Given the description of an element on the screen output the (x, y) to click on. 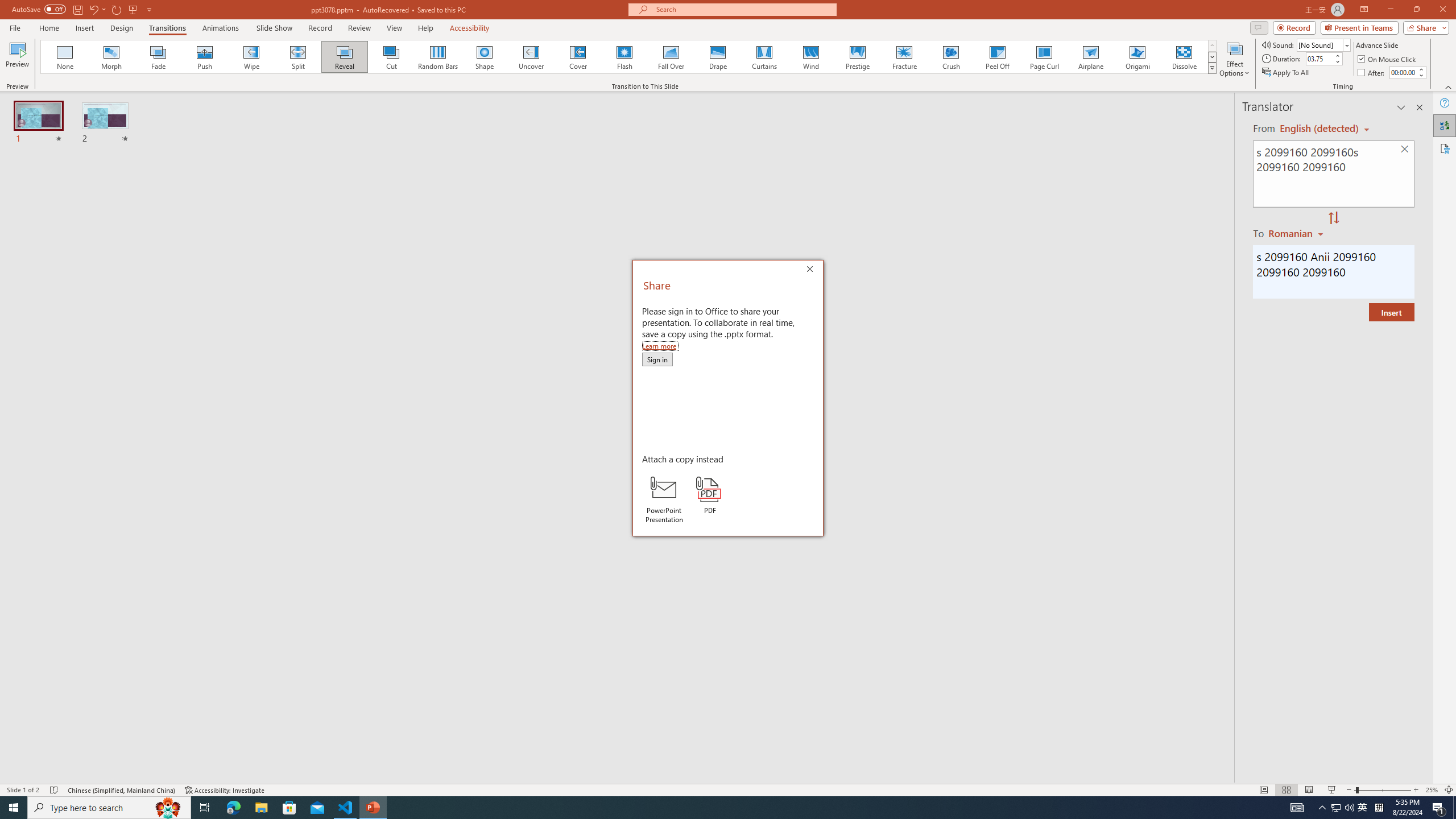
Crush (950, 56)
Romanian (1296, 232)
Morph (111, 56)
Wind (810, 56)
Peel Off (997, 56)
